Given the description of an element on the screen output the (x, y) to click on. 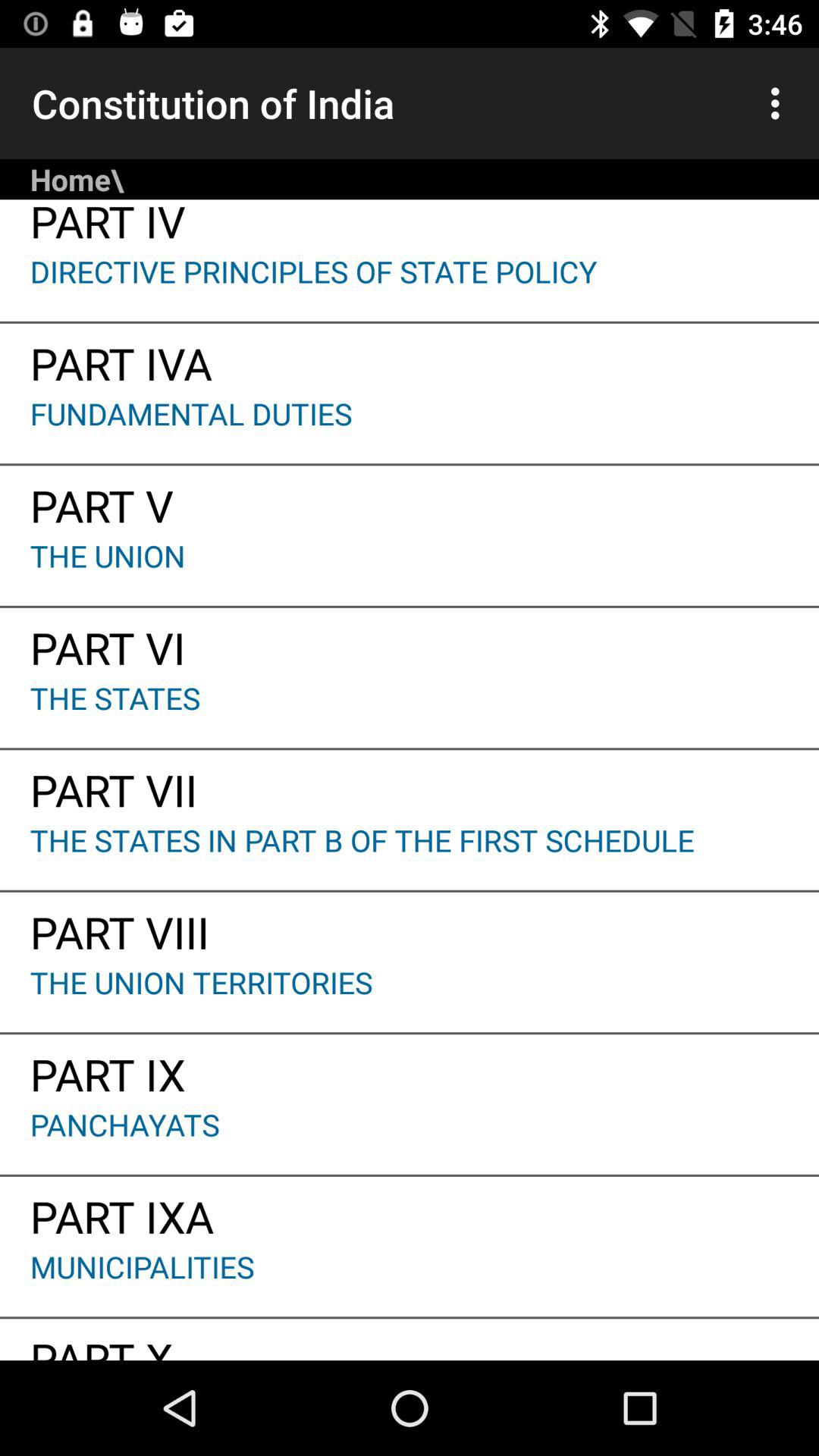
open the item above the part ixa app (409, 1139)
